Given the description of an element on the screen output the (x, y) to click on. 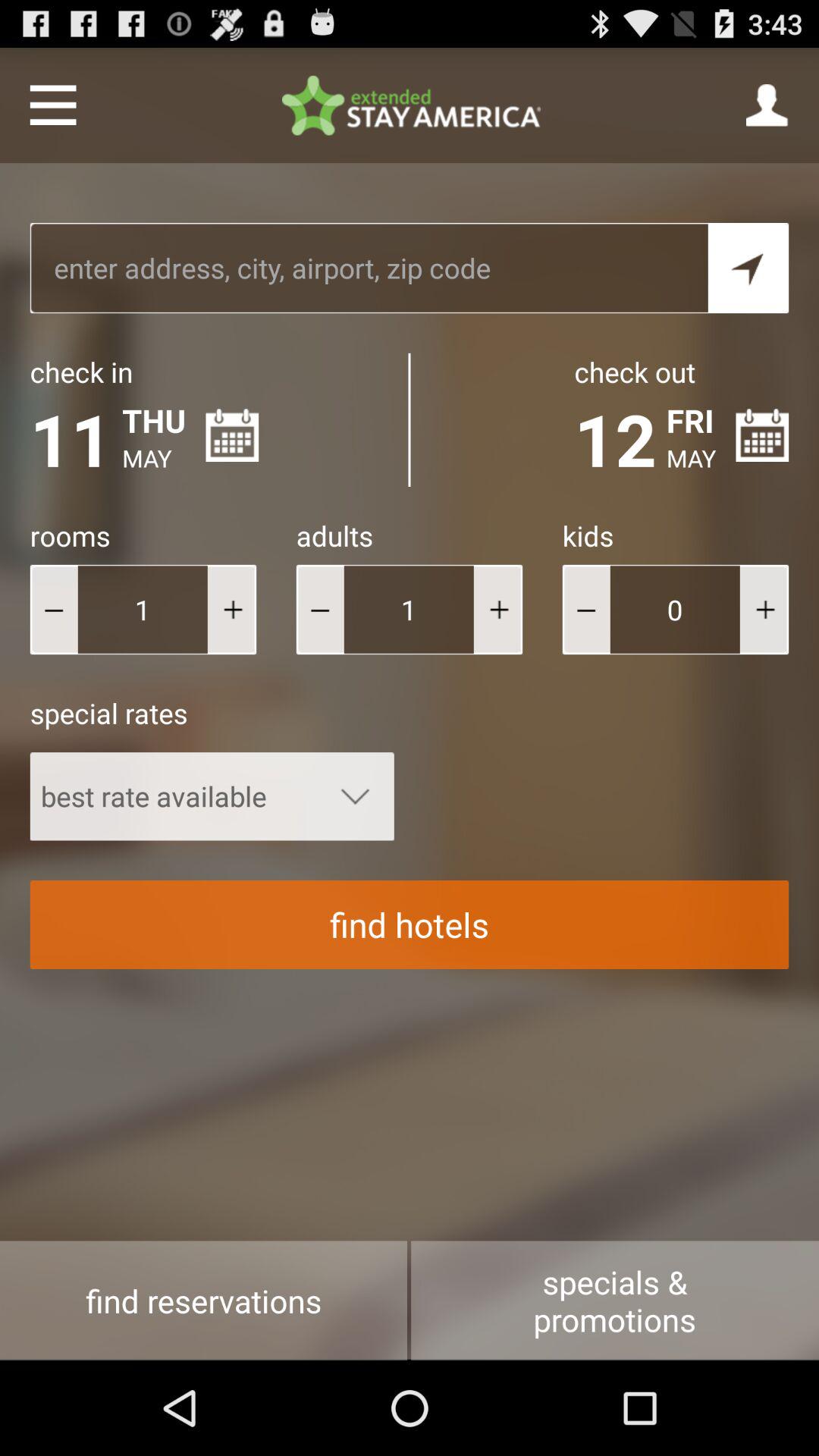
take away adults (320, 609)
